Given the description of an element on the screen output the (x, y) to click on. 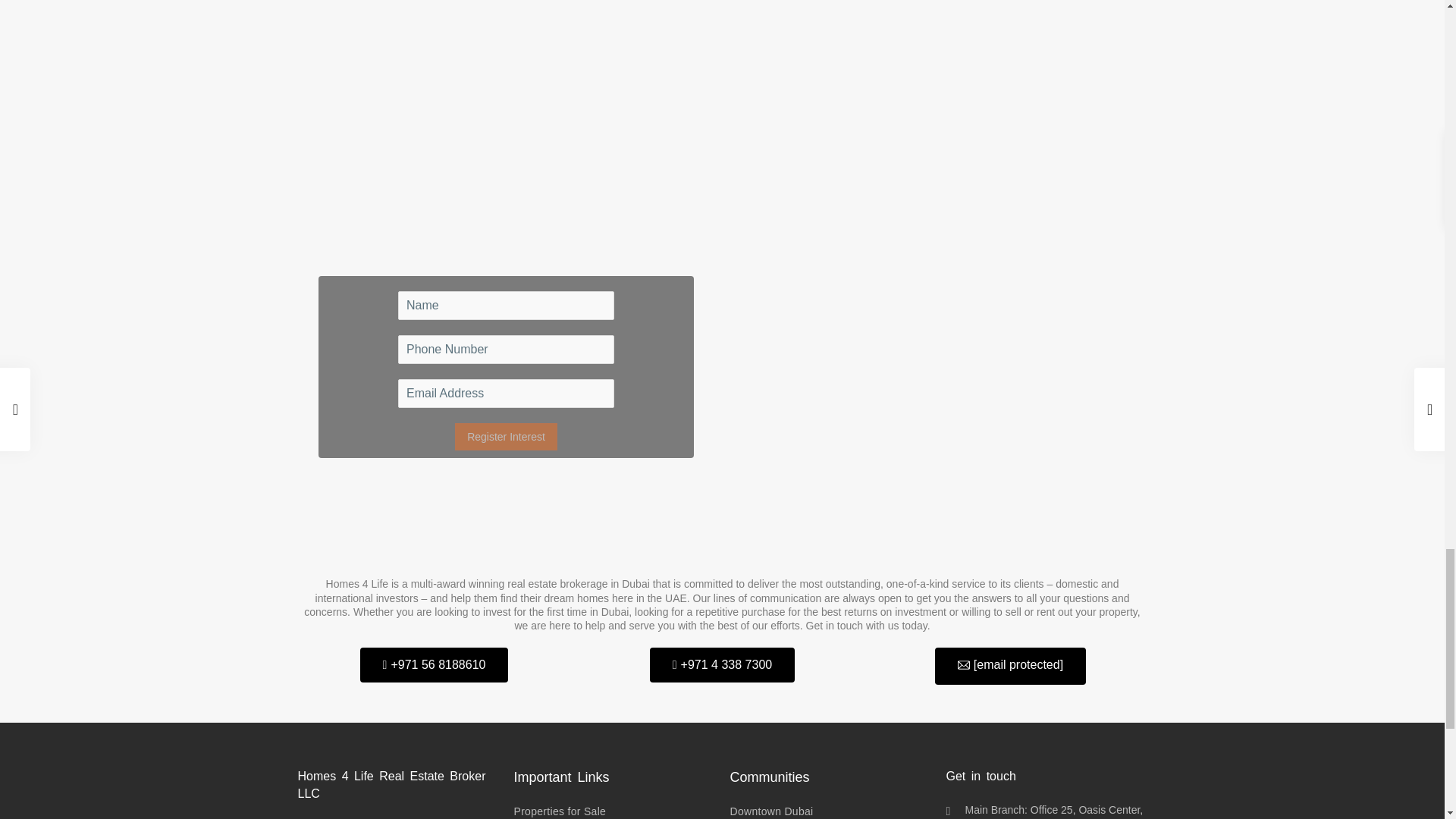
Register Interest (505, 436)
Downtown Dubai (770, 811)
Properties for Sale (560, 811)
Homes 4 Life Logo black (721, 530)
